Given the description of an element on the screen output the (x, y) to click on. 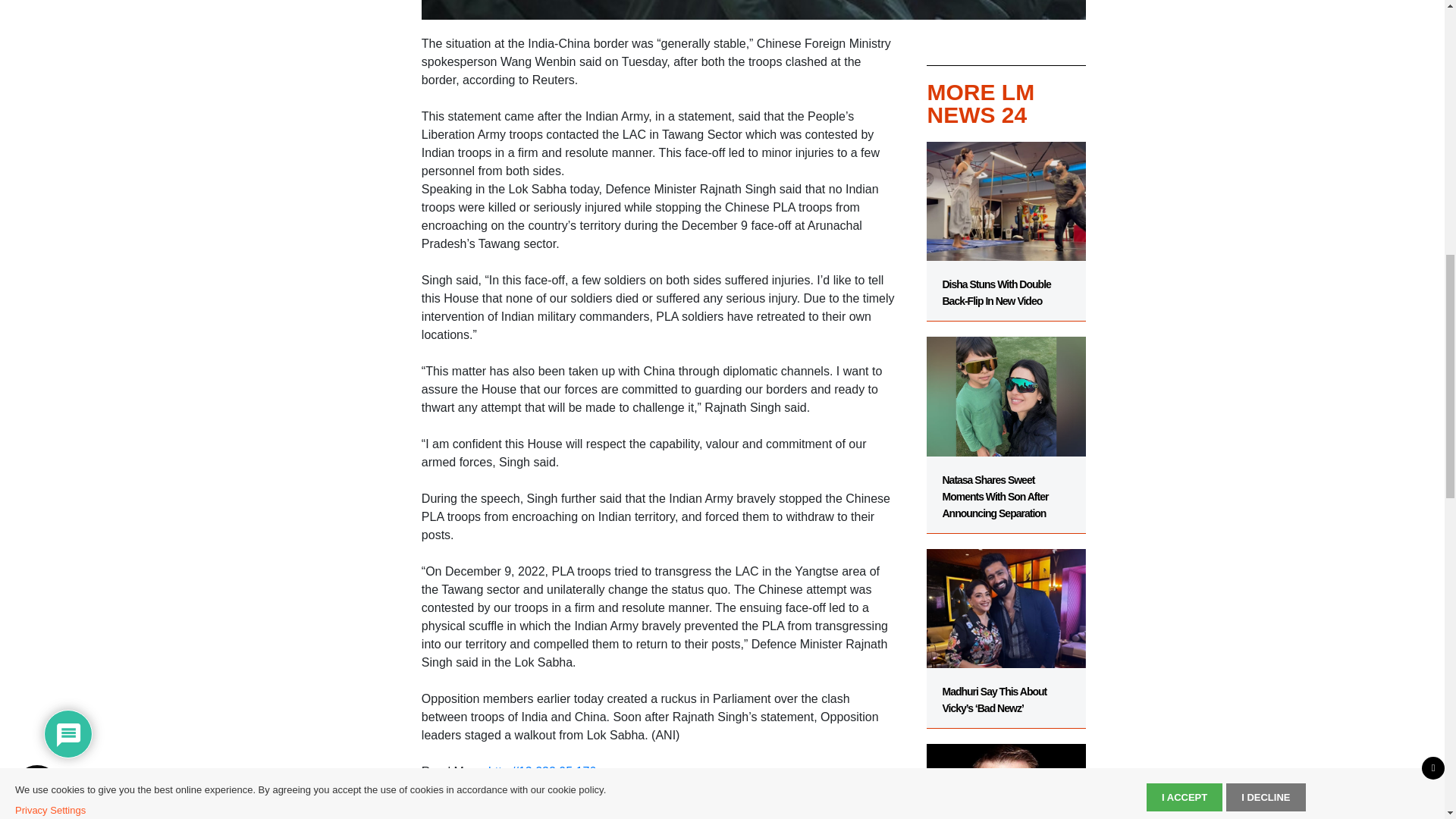
Issue Isolated, Fix Deployed: CEO, CrowdStrike (1006, 773)
